Given the description of an element on the screen output the (x, y) to click on. 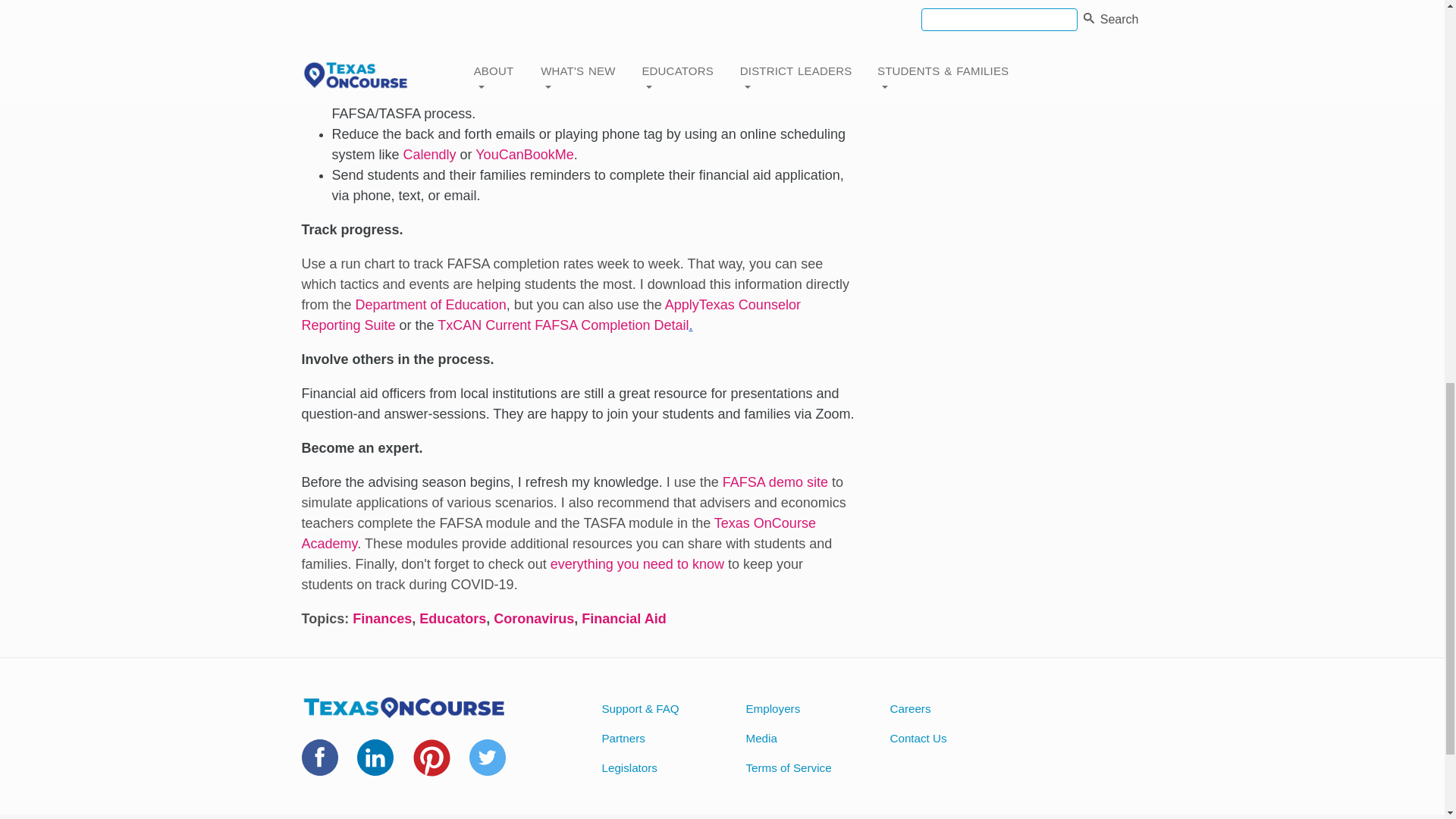
Connect with us on Twitter (486, 766)
Connect with us on Pinterest (431, 766)
Connect with us on LinkedIn (374, 766)
Connect with us on Facebook (319, 766)
